Given the description of an element on the screen output the (x, y) to click on. 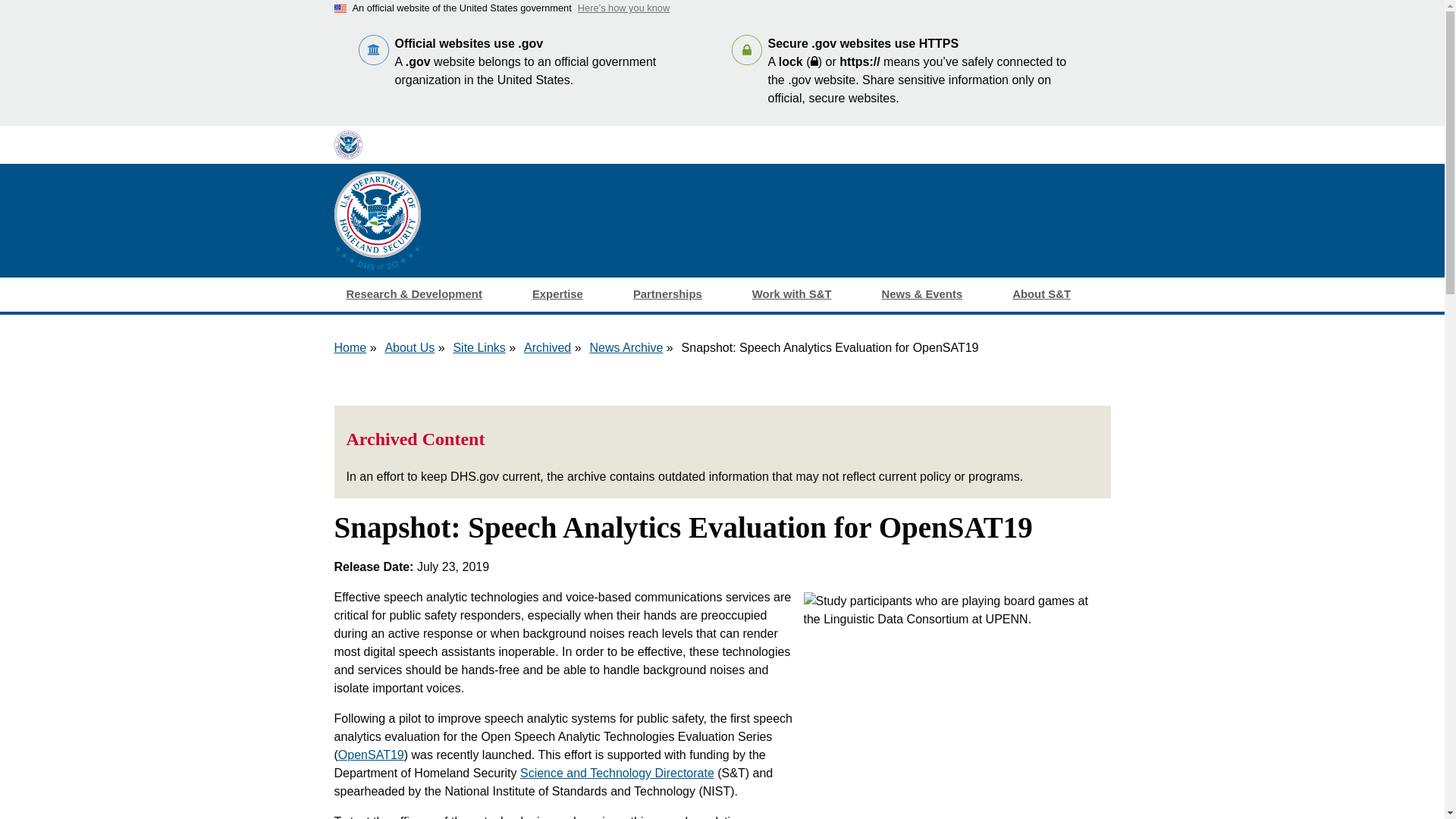
Expertise (570, 294)
News Archive (625, 347)
OpenSAT19 (370, 754)
Home (349, 347)
Science and Technology Directorate (616, 772)
Site Links (478, 347)
Partnerships (680, 294)
Archived (547, 347)
About Us (408, 347)
